Given the description of an element on the screen output the (x, y) to click on. 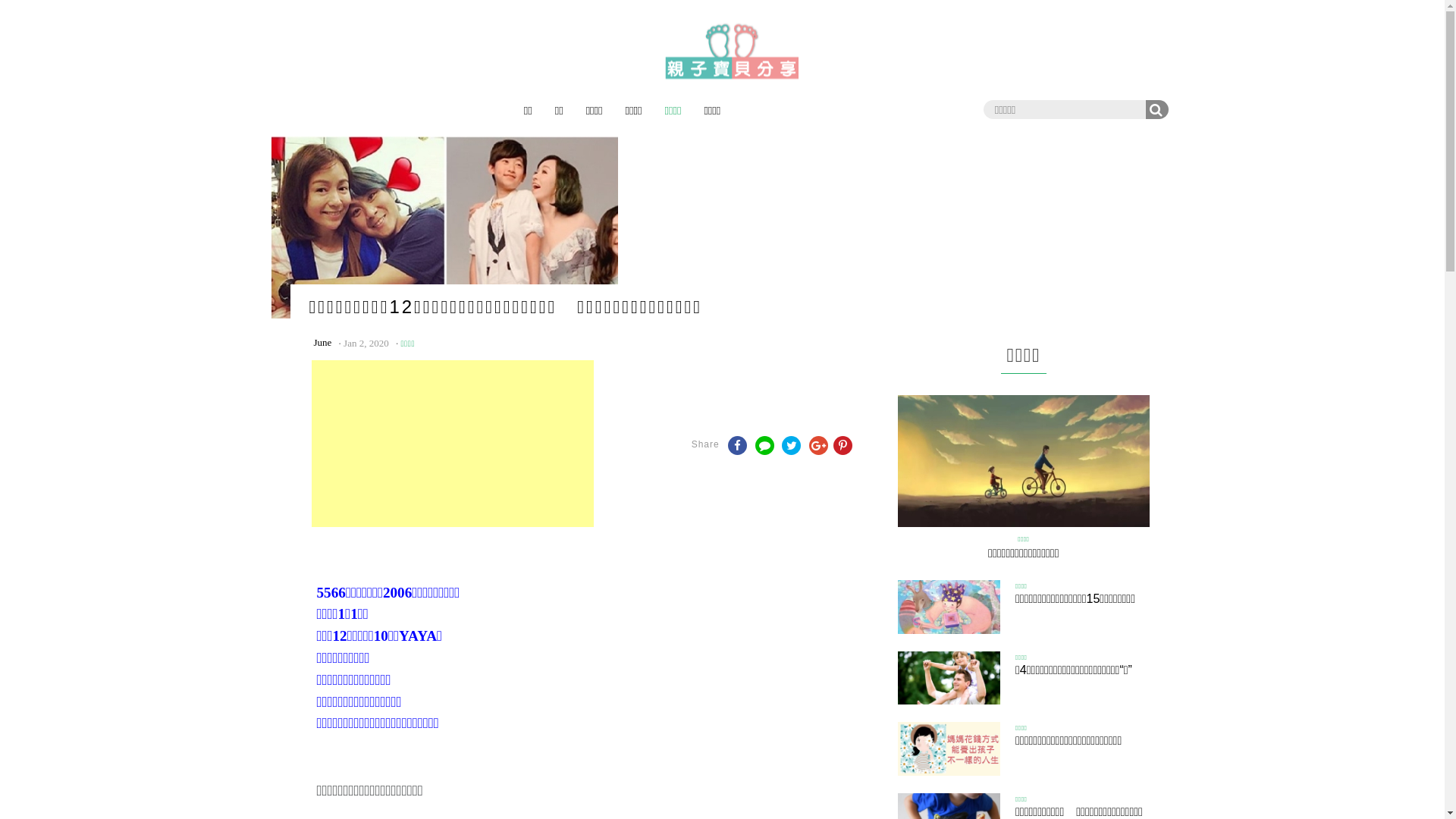
Advertisement Element type: hover (452, 443)
